Given the description of an element on the screen output the (x, y) to click on. 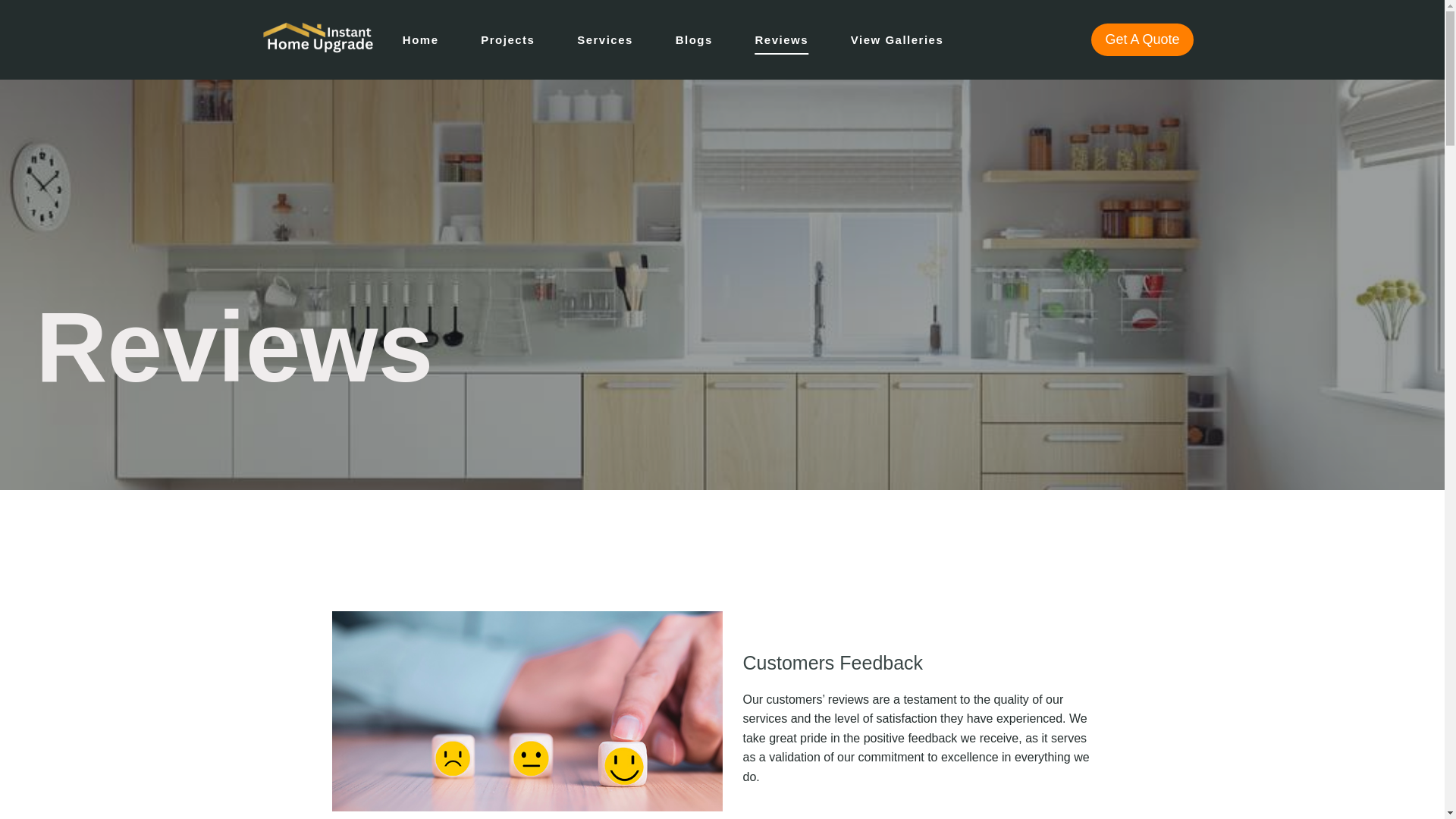
Services (605, 39)
Get A Quote (1141, 39)
Reviews (781, 39)
View Galleries (897, 39)
Blogs (693, 39)
Home (420, 39)
Projects (507, 39)
